Given the description of an element on the screen output the (x, y) to click on. 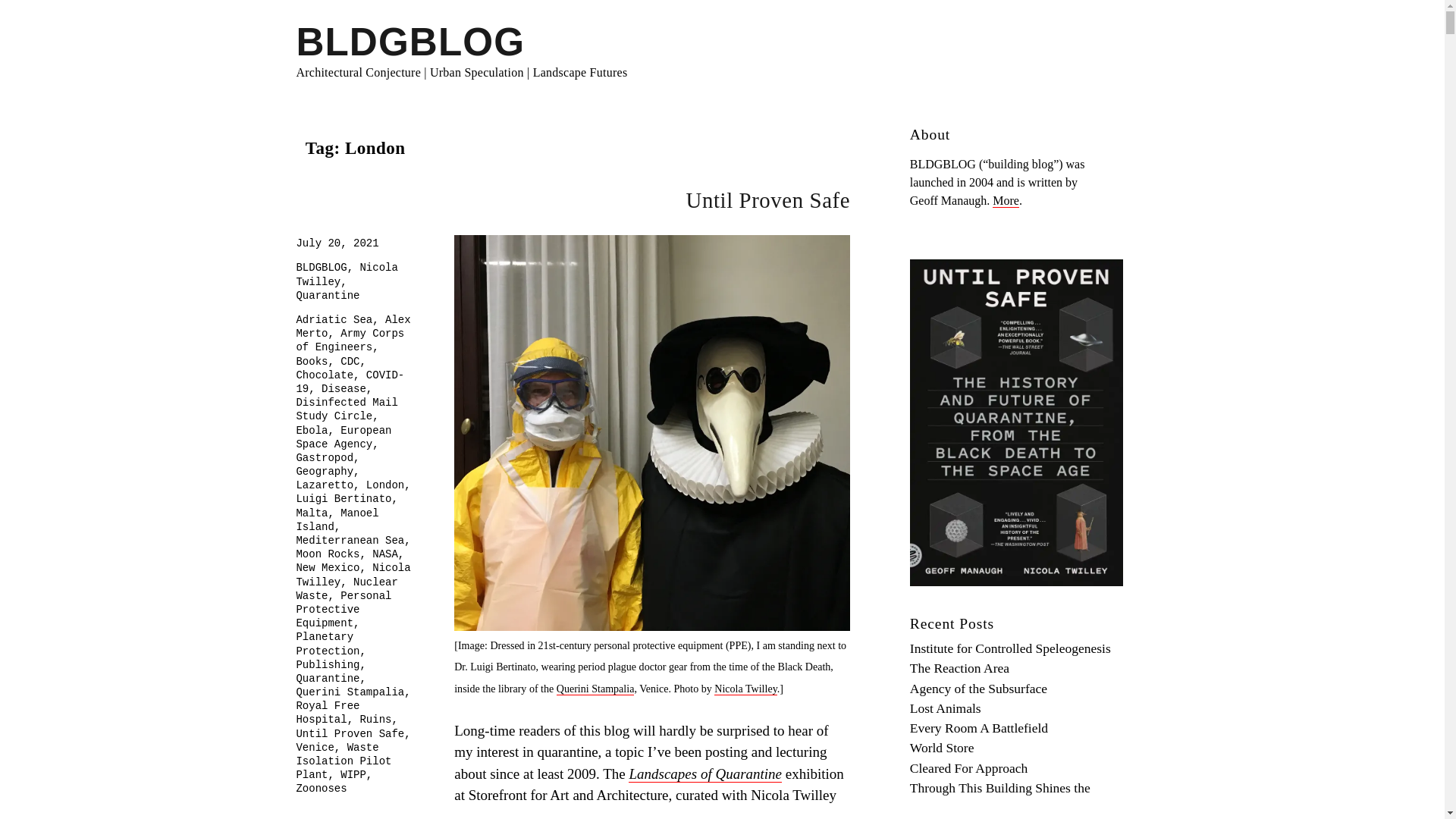
Nicola Twilley (346, 274)
Gastropod (324, 458)
Army Corps of Engineers (349, 339)
European Space Agency (343, 437)
Landscapes of Quarantine (704, 773)
Until Proven Safe (767, 200)
Disease (343, 388)
Disinfected Mail Study Circle (346, 409)
BLDGBLOG (409, 41)
Lazaretto (324, 485)
July 20, 2021 (336, 243)
Alex Merto (352, 326)
CDC (349, 361)
Chocolate (324, 375)
Adriatic Sea (333, 319)
